Given the description of an element on the screen output the (x, y) to click on. 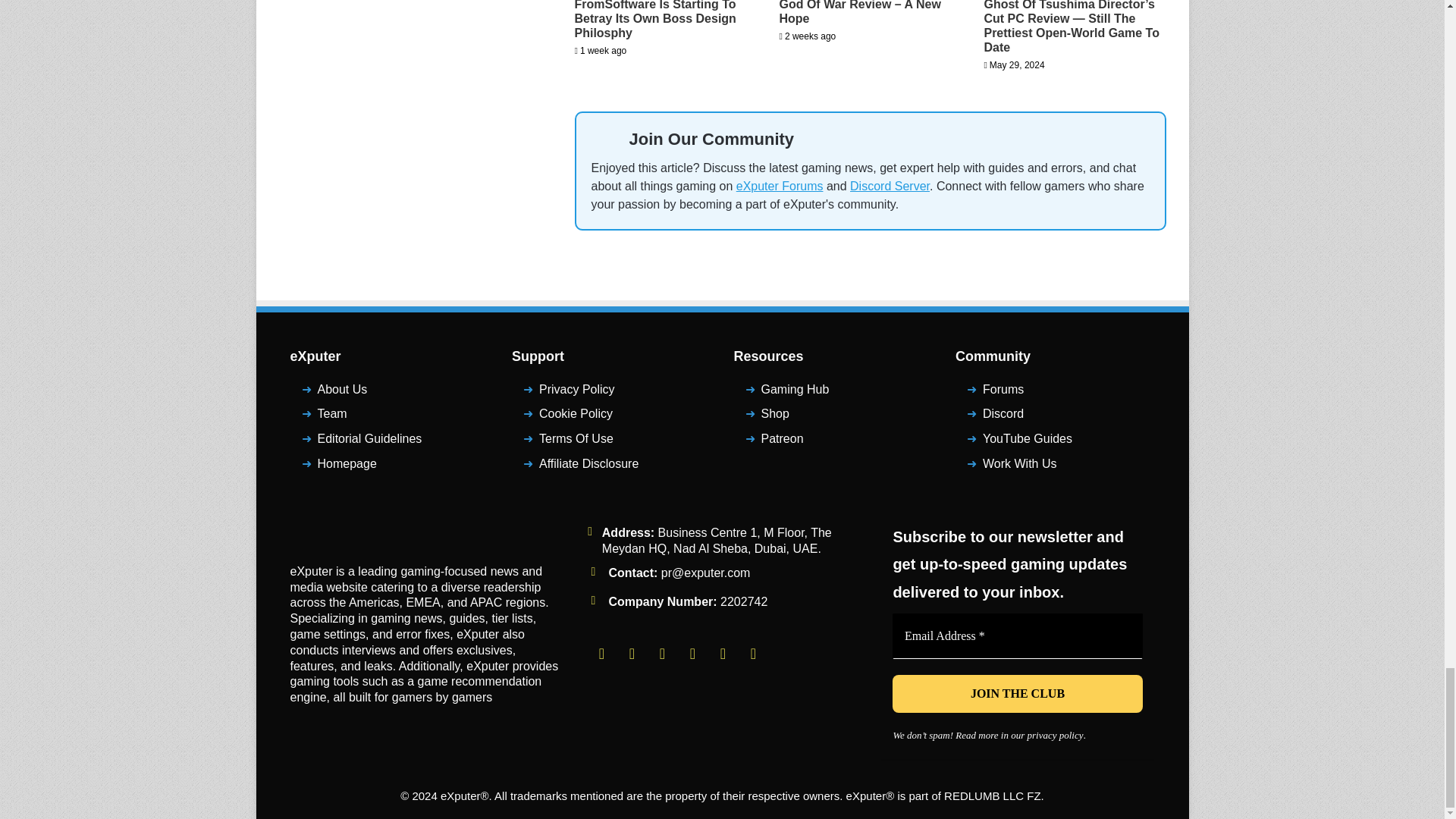
Email Address (1017, 636)
JOIN THE  CLUB (1017, 693)
